Given the description of an element on the screen output the (x, y) to click on. 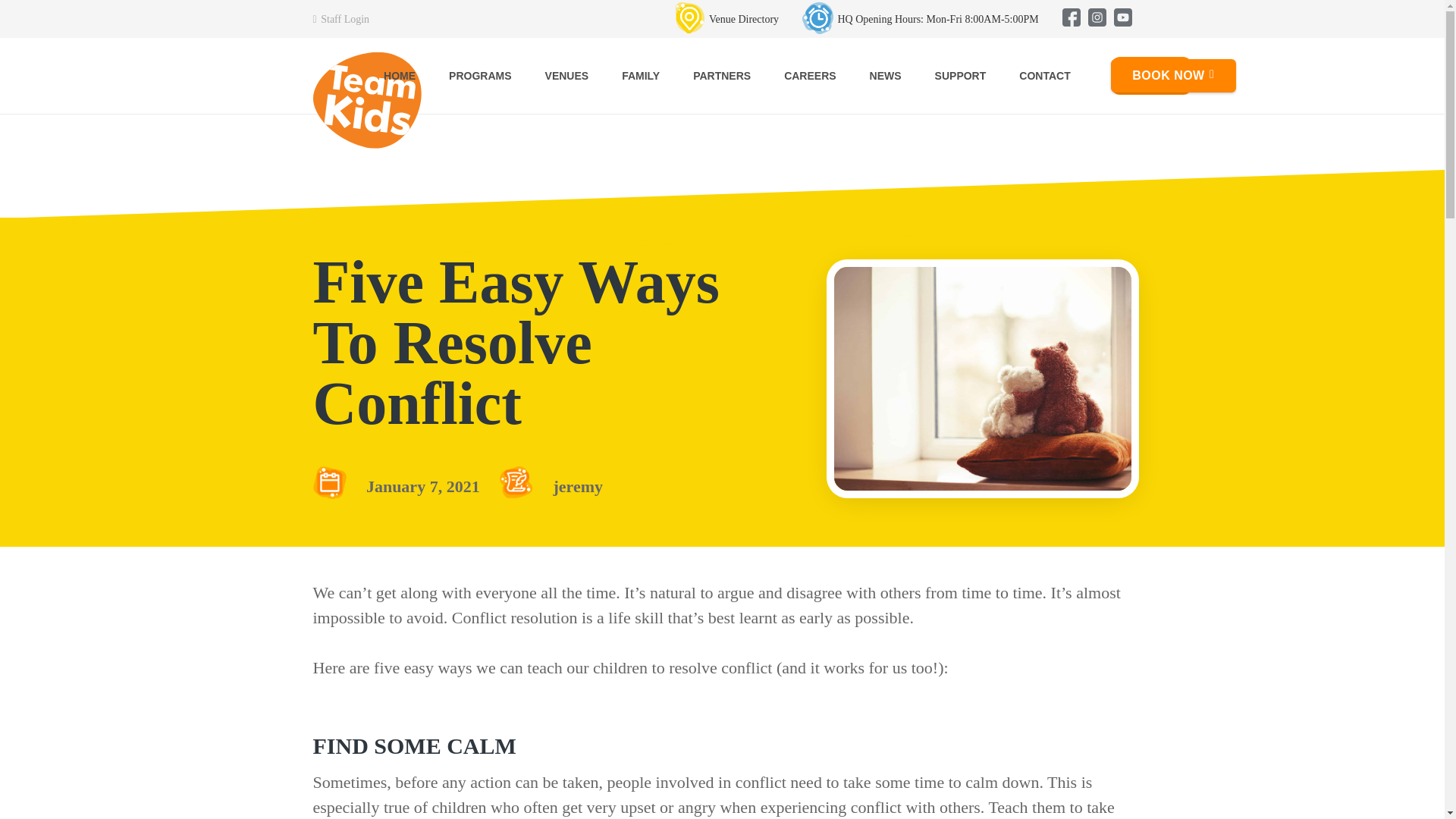
PROGRAMS (479, 75)
Venue Directory (726, 19)
Staff Login (341, 19)
PARTNERS (722, 75)
jeremy (577, 486)
CONTACT (1044, 75)
Facebook (1070, 18)
Chat (1406, 779)
FAMILY (641, 75)
SUPPORT (960, 75)
VENUES (566, 75)
CAREERS (809, 75)
BOOK NOW (1172, 75)
